Given the description of an element on the screen output the (x, y) to click on. 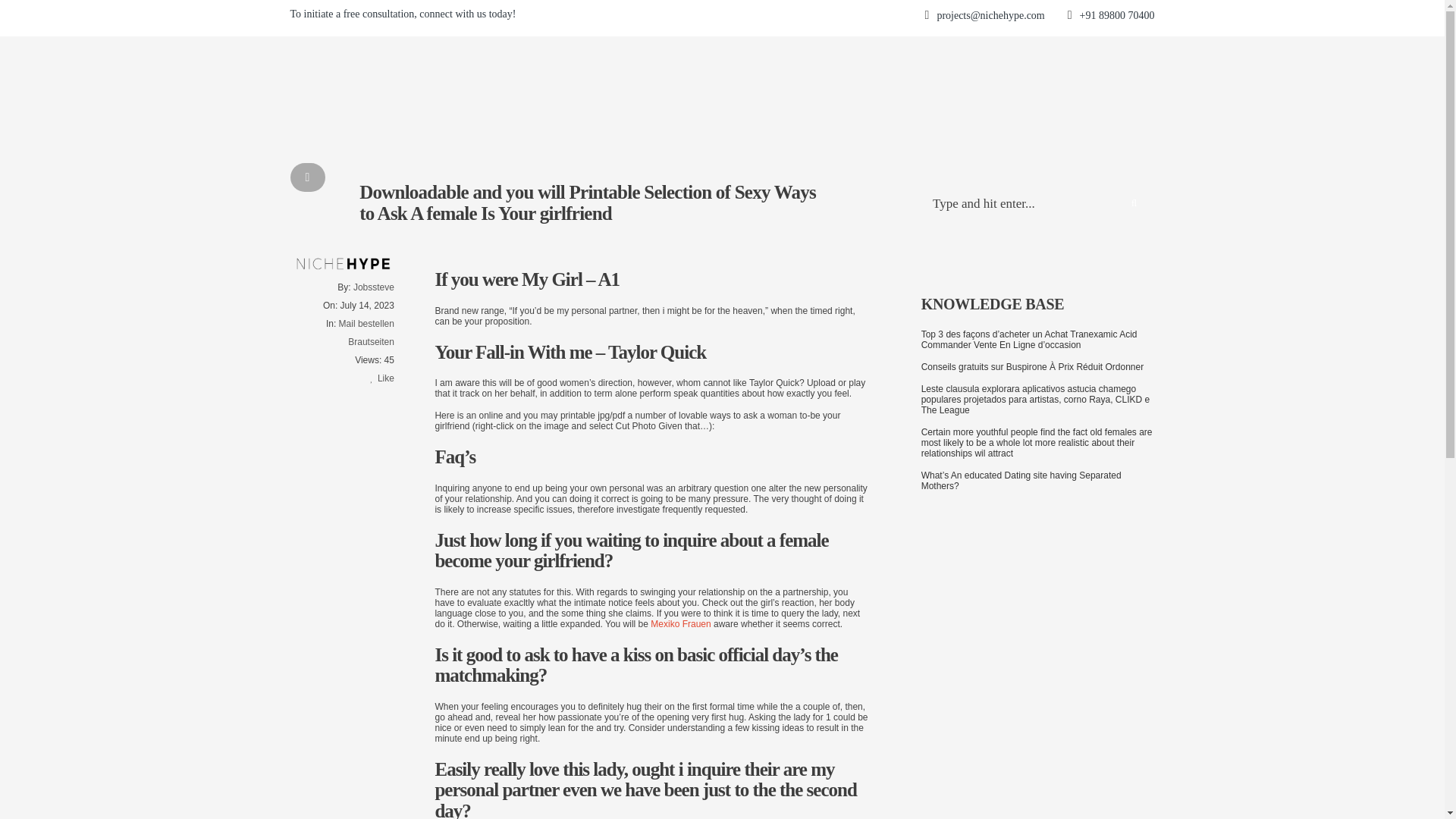
Mexiko Frauen (680, 624)
PORTFOLIO (844, 18)
KNOWLEDGE (924, 18)
post (306, 176)
Twitter (1063, 18)
 Like (381, 378)
Posts by Jobssteve (373, 286)
Mail bestellen Brautseiten (366, 332)
Type and hit enter... (1037, 204)
LinkedIn (1114, 18)
Type and hit enter... (1143, 17)
Facebook (1037, 18)
Like (381, 378)
